Given the description of an element on the screen output the (x, y) to click on. 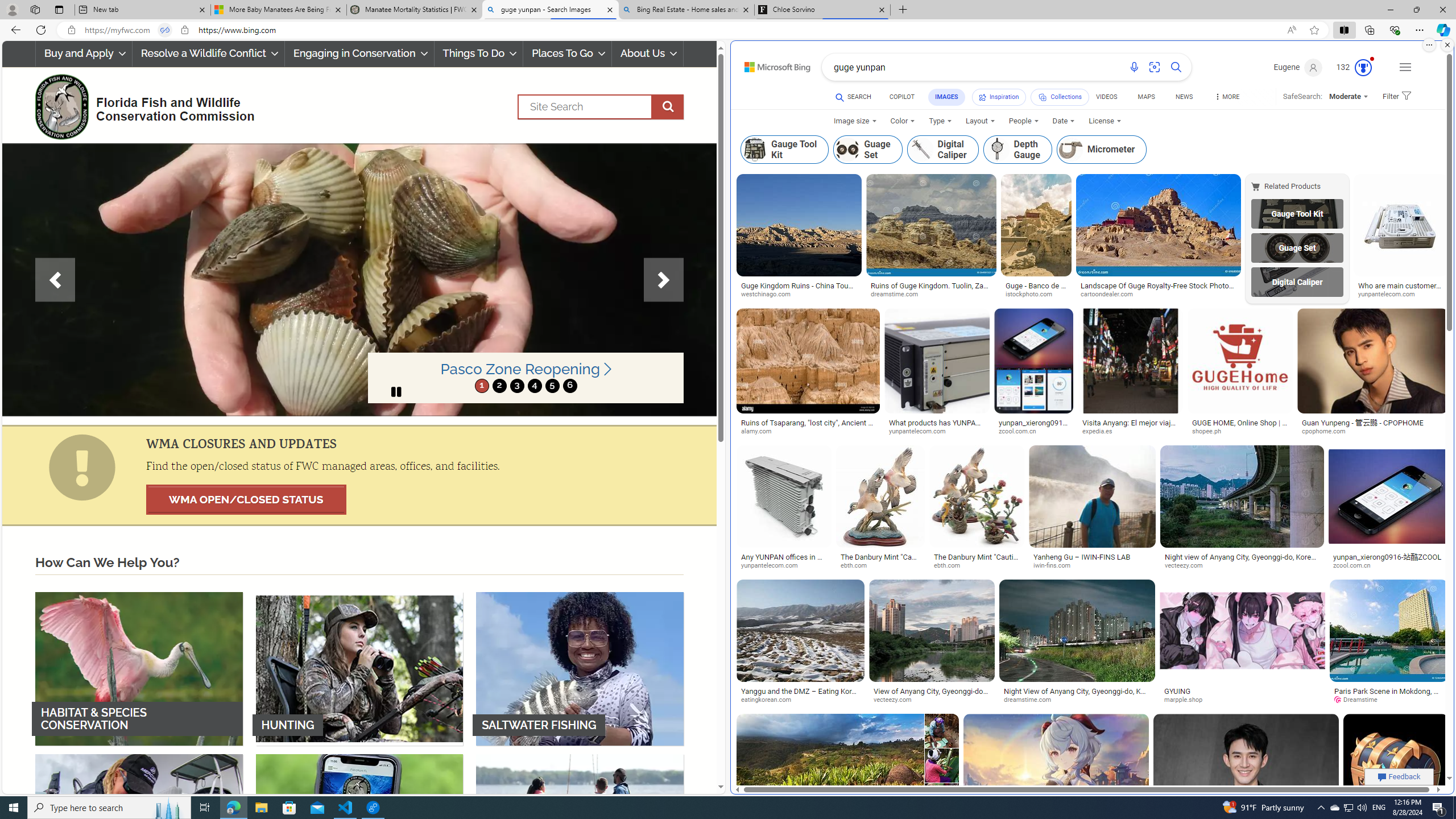
istockphoto.com (1036, 293)
VIDEOS (1106, 98)
People (1023, 121)
Type (940, 121)
Class: medal-circled (1363, 67)
Pasco Zone Reopening  (525, 369)
SafeSearch: (1298, 96)
Class: b_pri_nav_svg (1043, 97)
dreamstime.com (1031, 699)
